Given the description of an element on the screen output the (x, y) to click on. 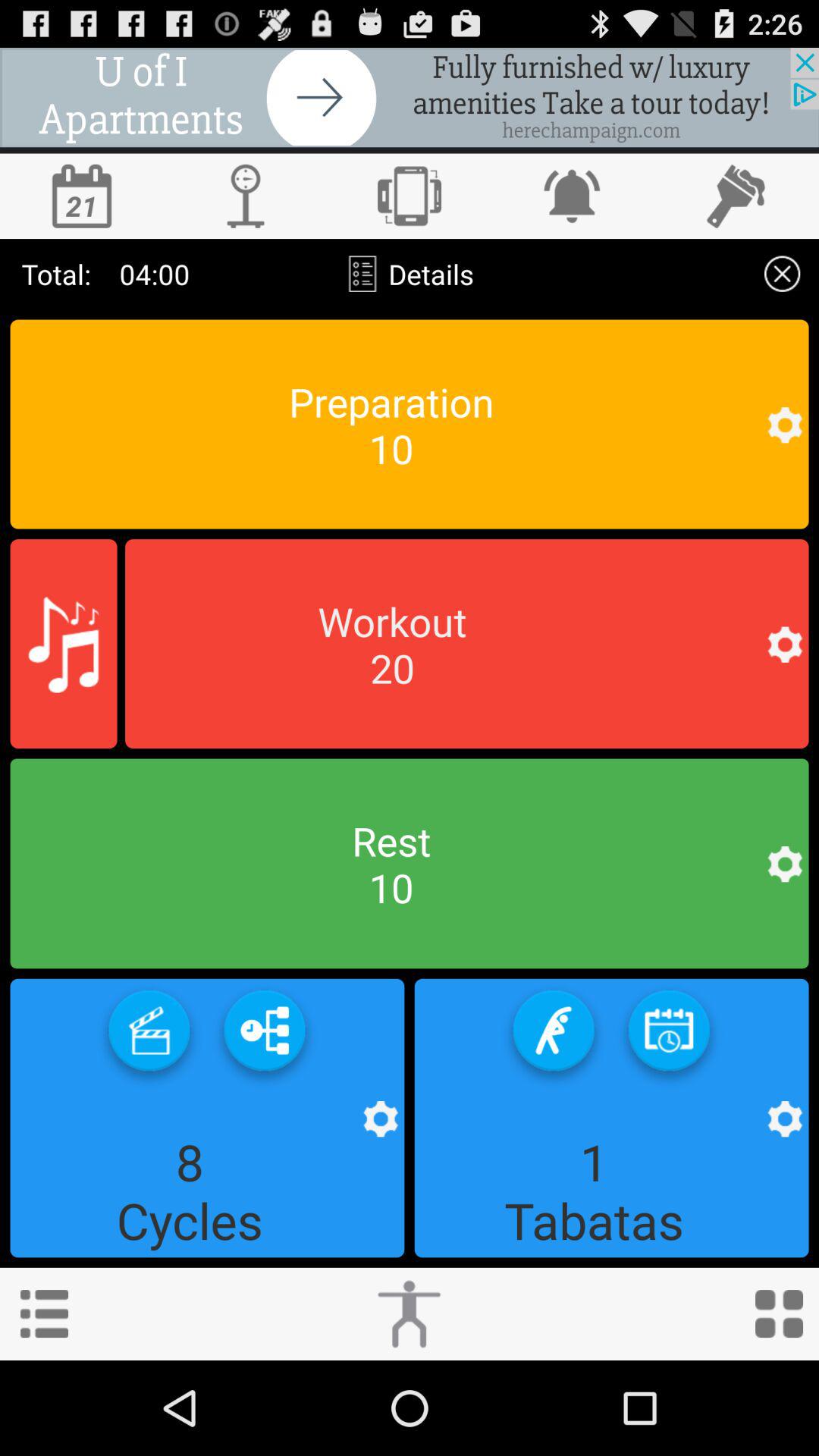
close (782, 273)
